Given the description of an element on the screen output the (x, y) to click on. 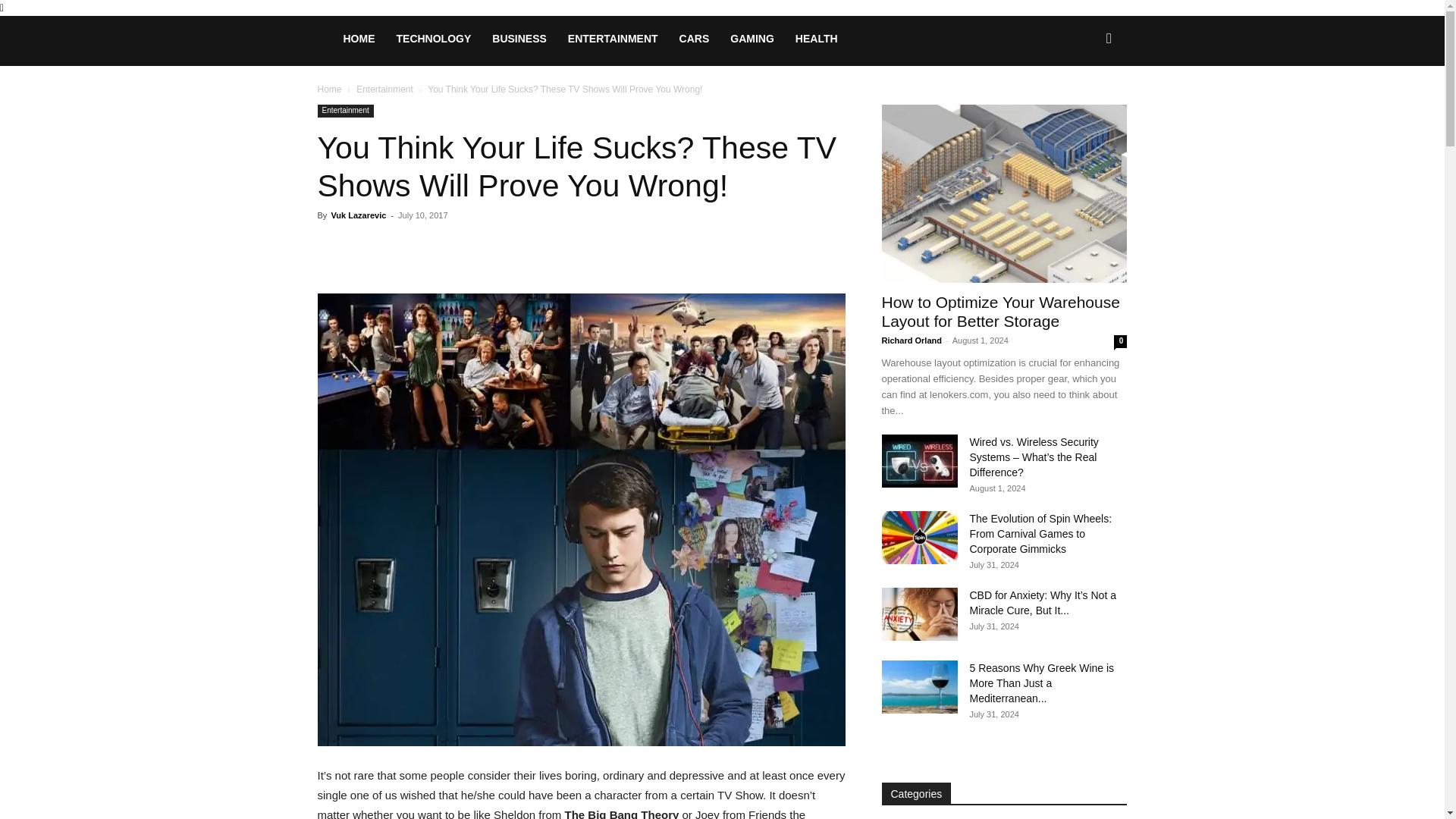
GAMING (751, 38)
CARS (694, 38)
BUSINESS (519, 38)
Entertainment (384, 89)
Entertainment (344, 110)
TECHNOLOGY (433, 38)
ENTERTAINMENT (612, 38)
View all posts in Entertainment (384, 89)
Home (328, 89)
Search (1085, 103)
HEALTH (816, 38)
Vuk Lazarevic (357, 215)
HOME (358, 38)
